Given the description of an element on the screen output the (x, y) to click on. 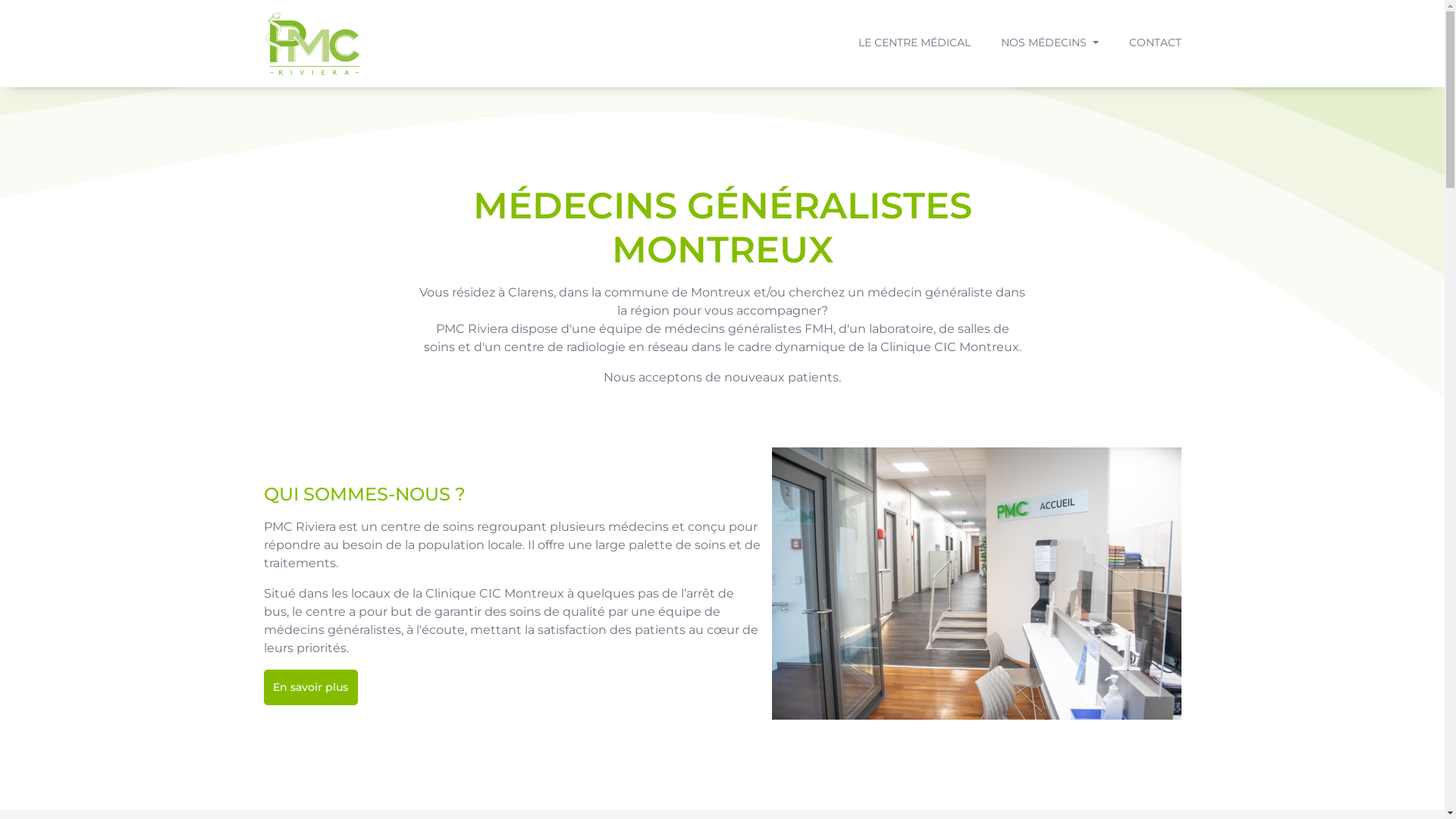
CONTACT Element type: text (1154, 42)
En savoir plus Element type: text (310, 687)
